Given the description of an element on the screen output the (x, y) to click on. 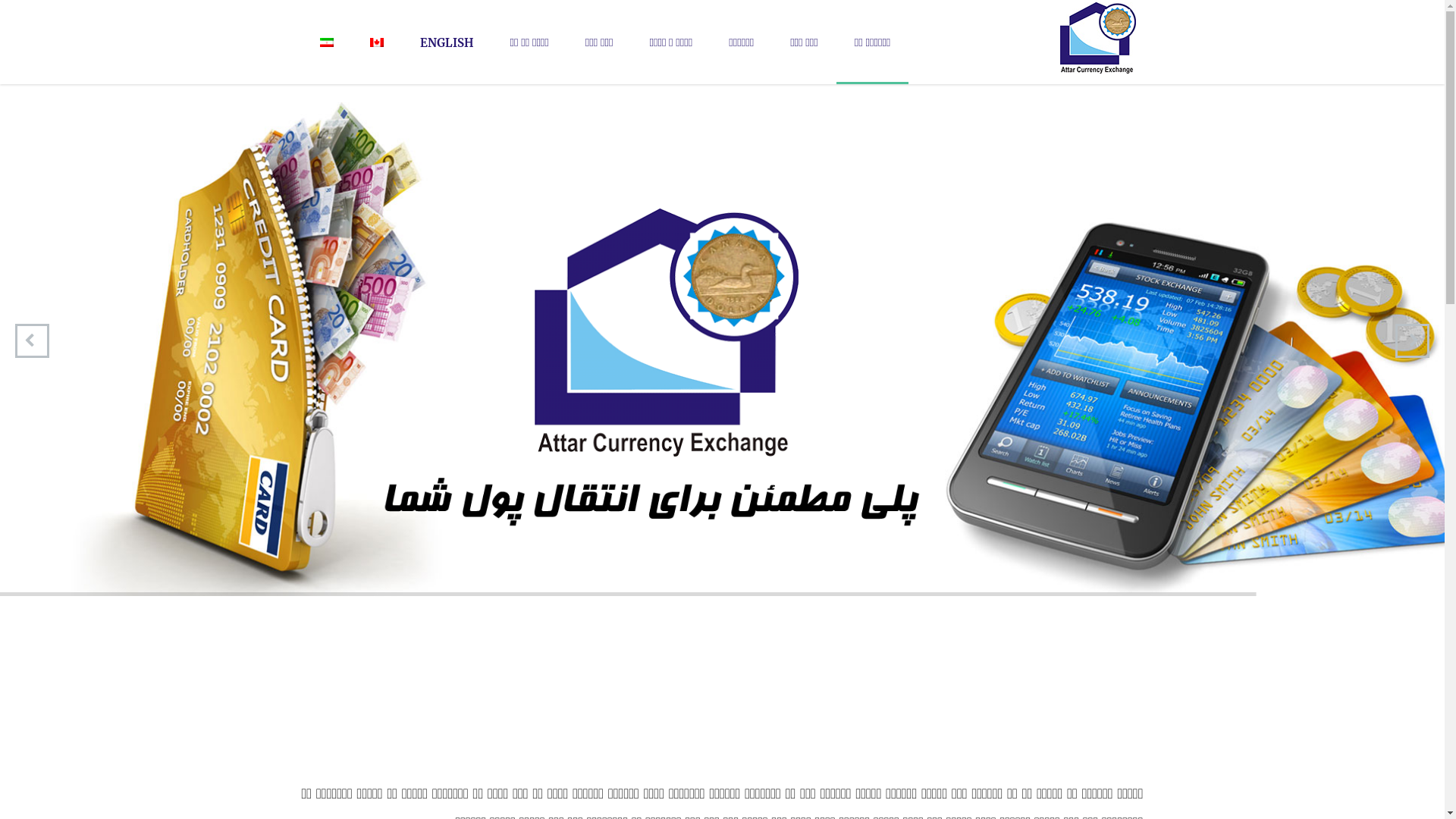
ENGLISH Element type: text (446, 42)
